Given the description of an element on the screen output the (x, y) to click on. 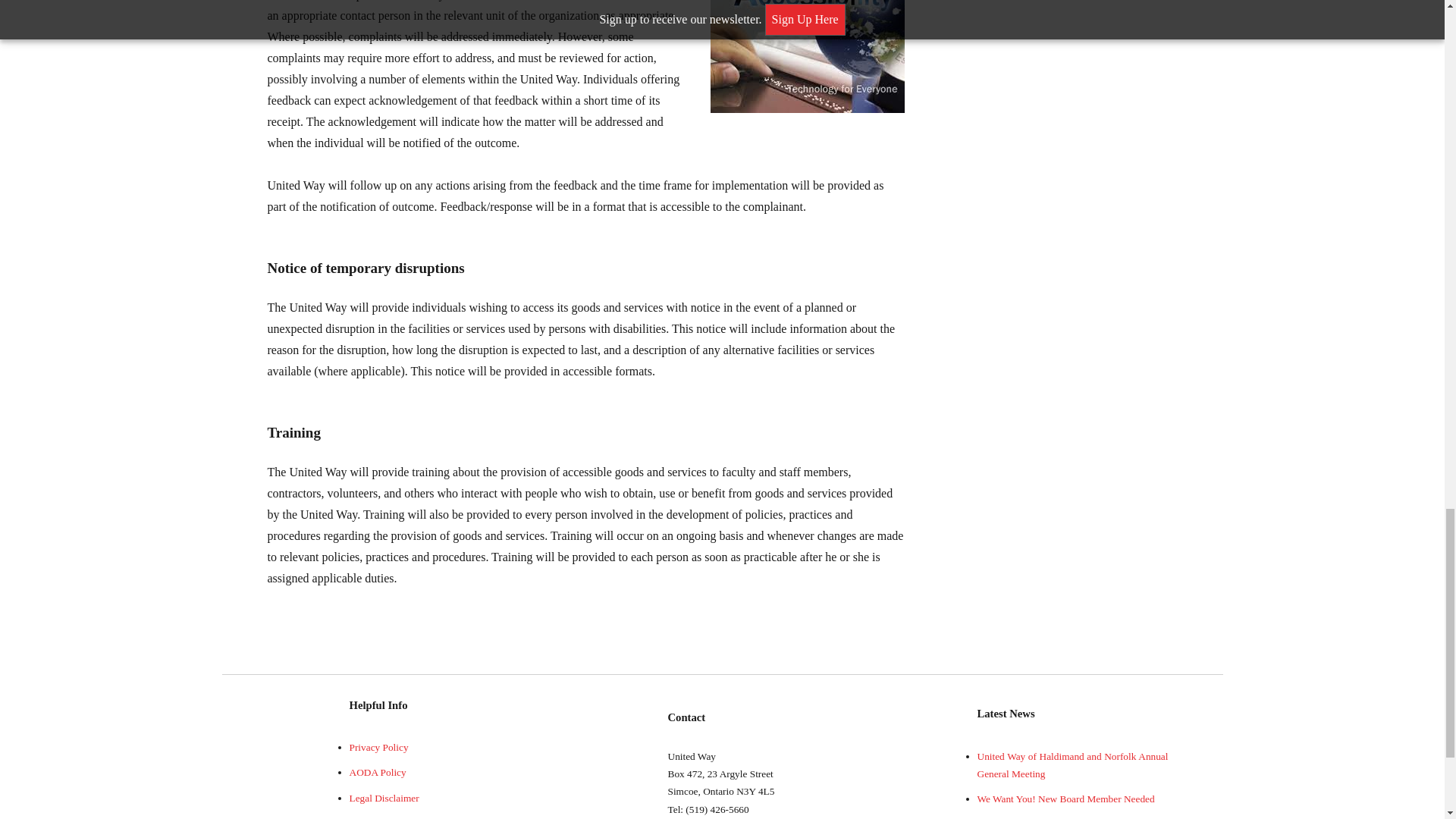
AODA Policy (377, 772)
Legal Disclaimer (384, 797)
Permanent Link to We Want You! New Board Member Needed (1065, 798)
Donor Bill of Rights (390, 818)
United Way of Haldimand and Norfolk Annual General Meeting (1071, 765)
We Want You! New Board Member Needed (1065, 798)
Privacy Policy (378, 747)
